Given the description of an element on the screen output the (x, y) to click on. 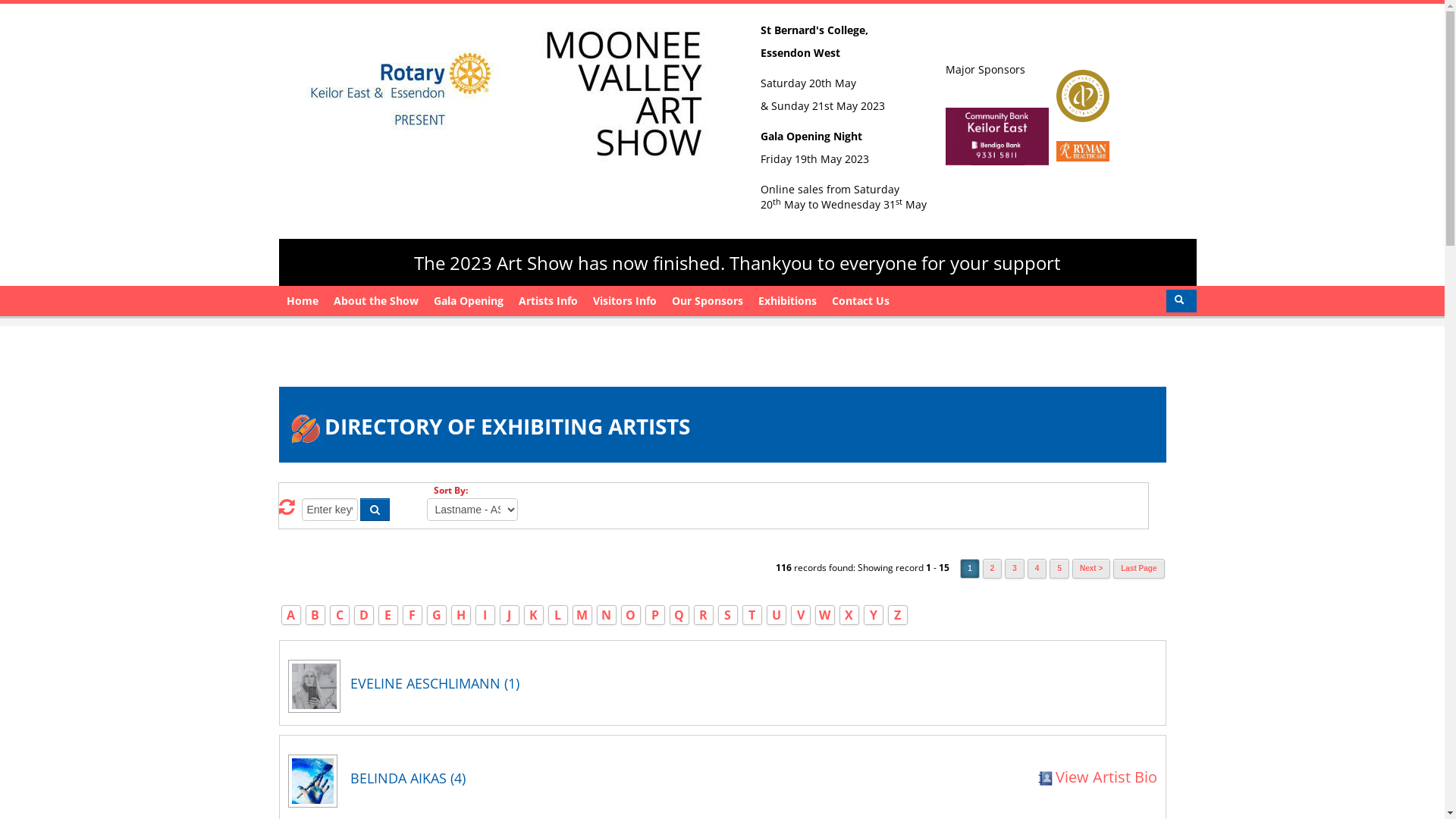
T Element type: text (751, 614)
U Element type: text (776, 614)
2 Element type: text (992, 568)
V Element type: text (799, 614)
Exhibitions Element type: text (787, 300)
View all works by Eveline Aeschlimann Element type: hover (318, 691)
View all works by Belinda Aikas Element type: hover (318, 786)
Q Element type: text (679, 614)
E Element type: text (387, 614)
Bendigo Community Bank Keilor East Element type: hover (1082, 149)
W Element type: text (824, 614)
Contact Us Element type: text (859, 300)
View Artist Bio Element type: text (1095, 776)
Reset Search Criteria Element type: hover (286, 509)
Home Element type: text (302, 300)
S Element type: text (727, 614)
N Element type: text (606, 614)
Visitors Info Element type: text (624, 300)
3 Element type: text (1014, 568)
P Element type: text (654, 614)
F Element type: text (411, 614)
L Element type: text (557, 614)
Last Page Element type: text (1138, 568)
K Element type: text (533, 614)
Our Sponsors Element type: text (707, 300)
About the Show Element type: text (376, 300)
O Element type: text (630, 614)
G Element type: text (436, 614)
J Element type: text (509, 614)
C Element type: text (338, 614)
BELINDA AIKAS (4) Element type: text (546, 777)
Y Element type: text (872, 614)
B Element type: text (314, 614)
Gala Opening Element type: text (468, 300)
M Element type: text (581, 614)
X Element type: text (848, 614)
I Element type: text (484, 614)
R Element type: text (703, 614)
Next > Element type: text (1091, 568)
Z Element type: text (897, 614)
4 Element type: text (1037, 568)
5 Element type: text (1059, 568)
D Element type: text (363, 614)
A Element type: text (290, 614)
H Element type: text (460, 614)
Artists Info Element type: text (548, 300)
EVELINE AESCHLIMANN (1) Element type: text (750, 682)
